Given the description of an element on the screen output the (x, y) to click on. 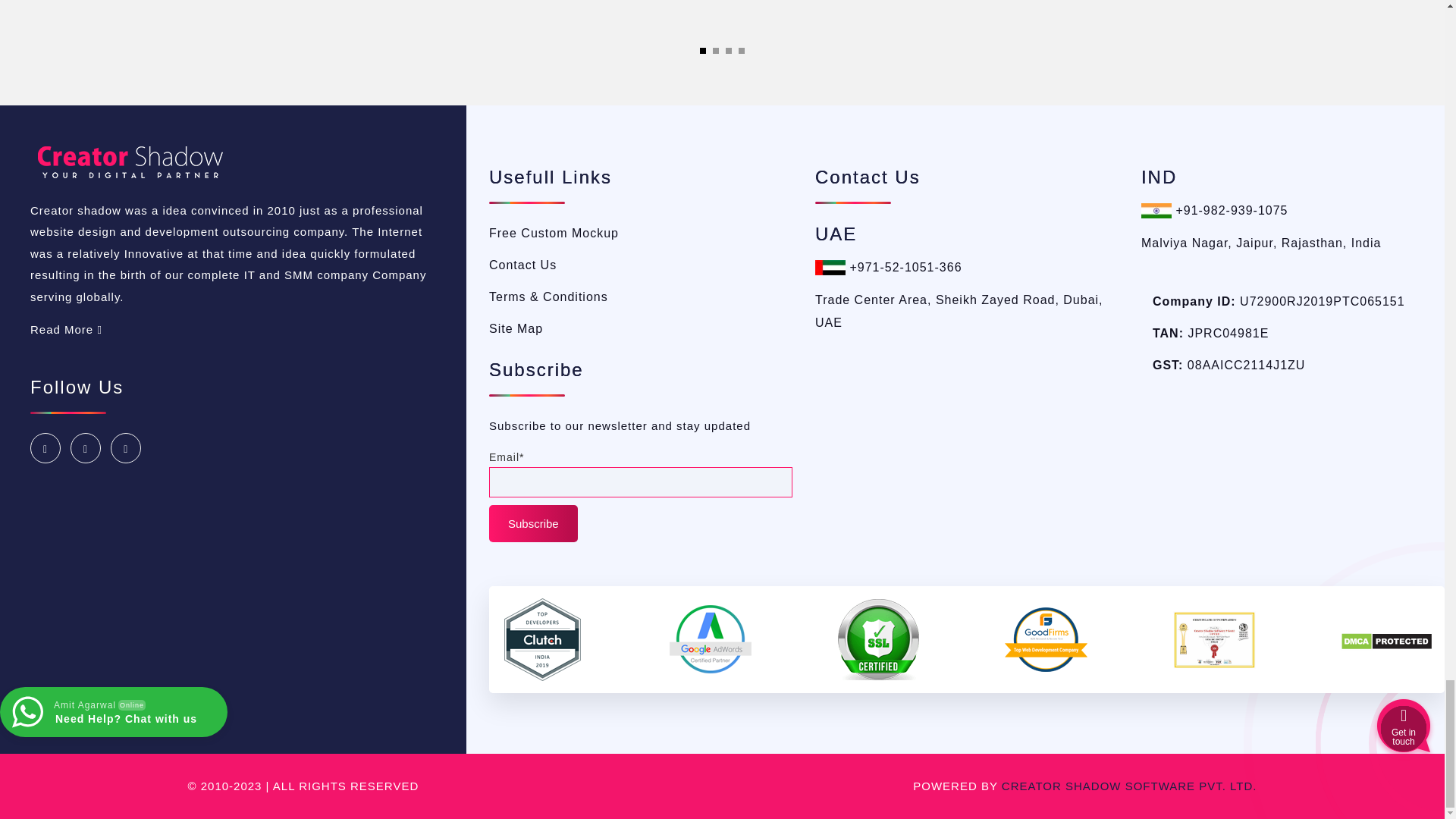
Subscribe (533, 523)
